Given the description of an element on the screen output the (x, y) to click on. 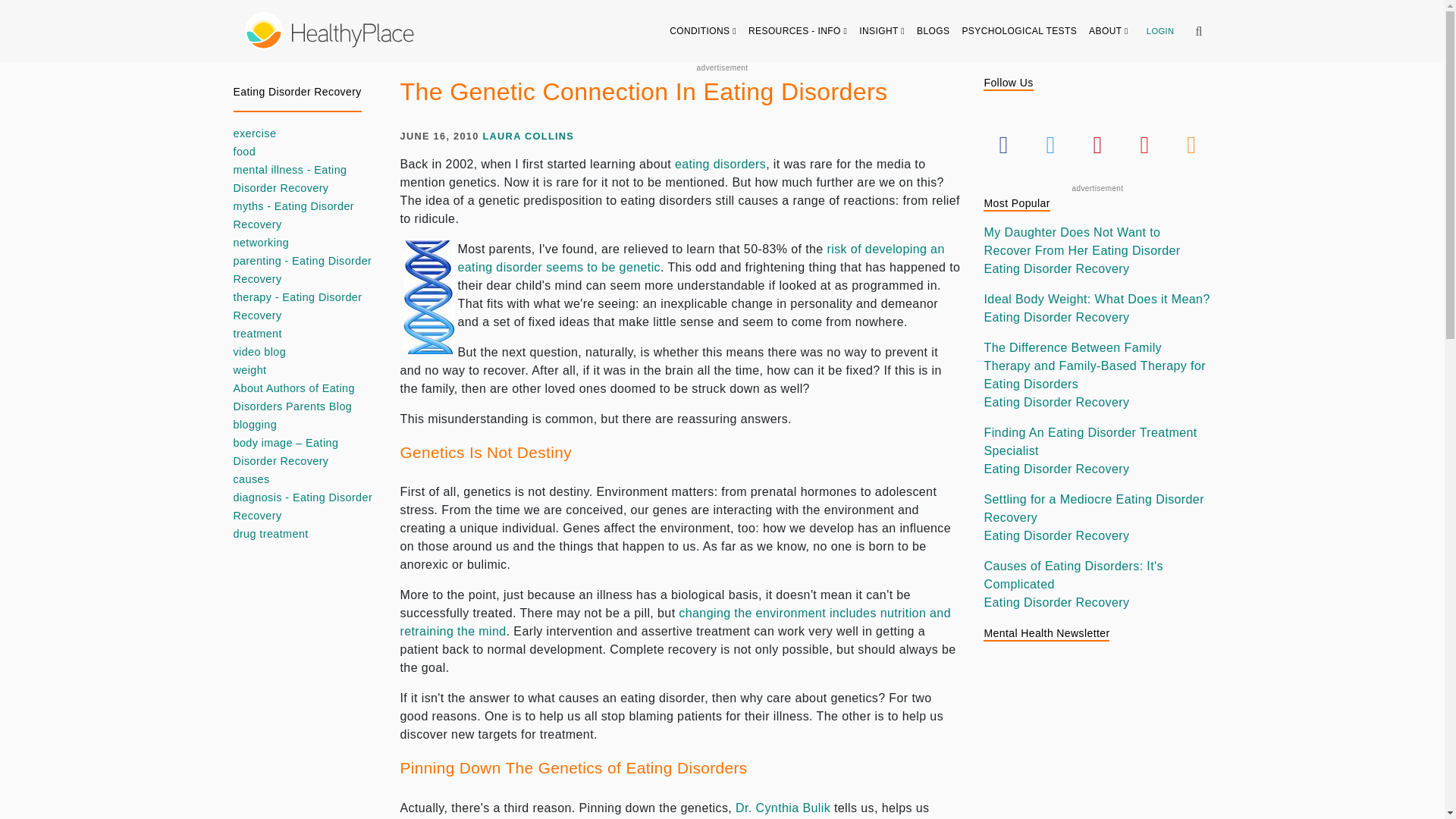
CONDITIONS (702, 31)
INSIGHT (882, 31)
RESOURCES - INFO (797, 31)
genetic predisposition to eating disorders (701, 257)
